Given the description of an element on the screen output the (x, y) to click on. 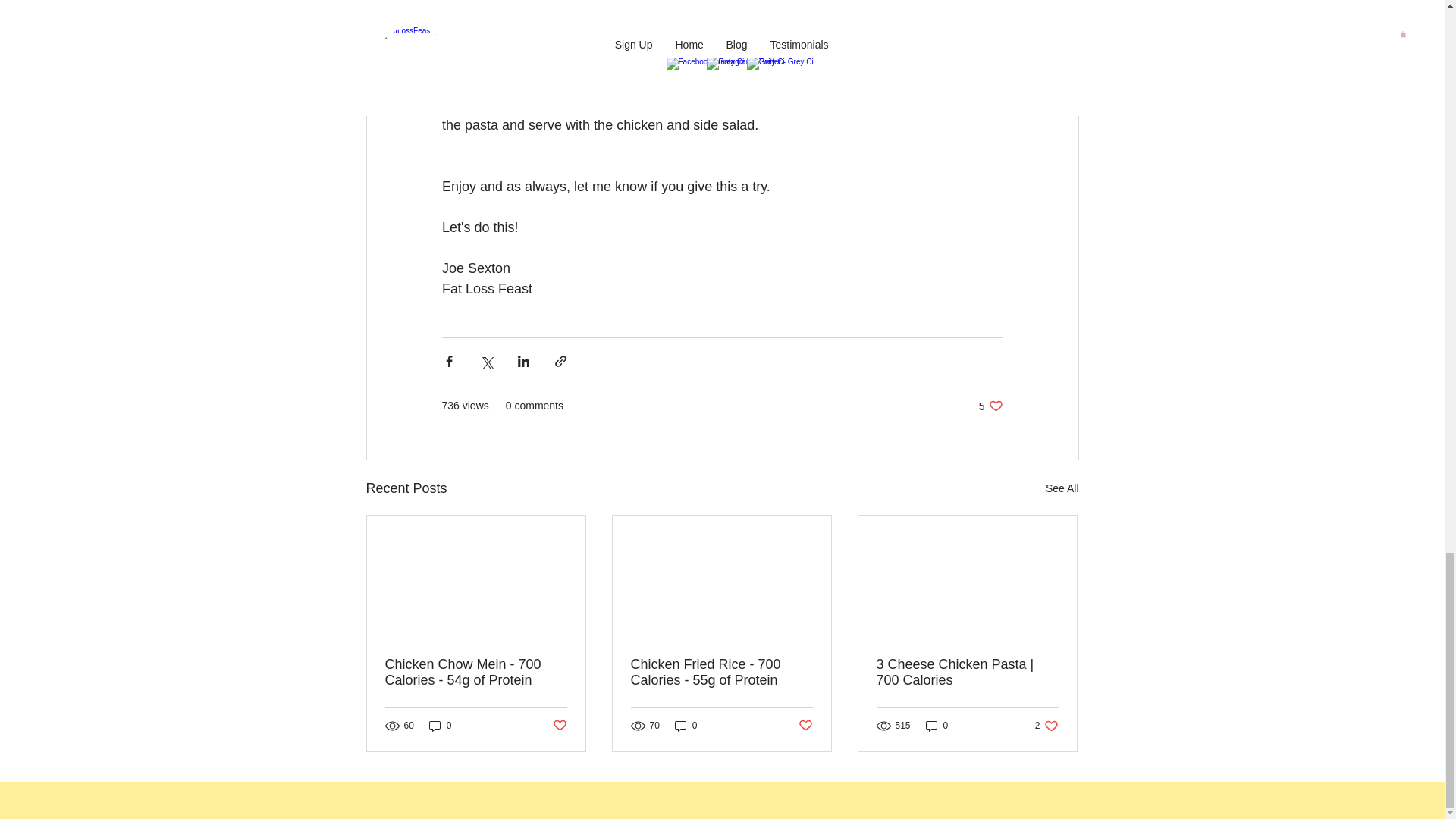
Chicken Fried Rice - 700 Calories - 55g of Protein (721, 672)
0 (440, 726)
Chicken Chow Mein - 700 Calories - 54g of Protein (476, 672)
Post not marked as liked (558, 725)
0 (1046, 726)
0 (685, 726)
See All (990, 405)
Post not marked as liked (937, 726)
